Given the description of an element on the screen output the (x, y) to click on. 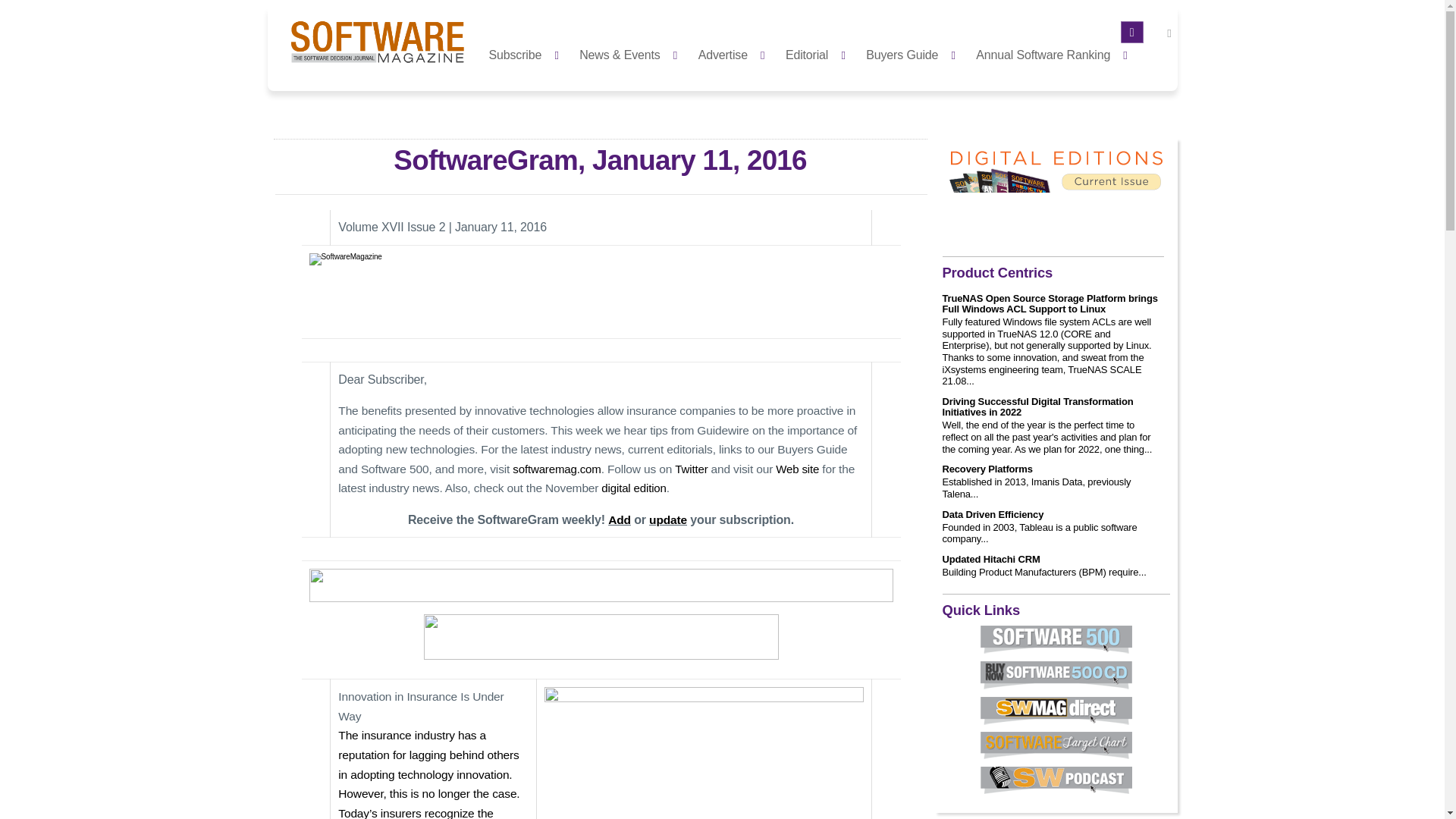
Editorial (819, 53)
Web site (799, 468)
softwaremag.com (555, 468)
update (668, 519)
Subscribe (527, 53)
Twitter (692, 468)
Buyers Guide (915, 53)
Annual Software Ranking (1056, 53)
digital edition (631, 487)
Add (619, 519)
Advertise (735, 53)
